Given the description of an element on the screen output the (x, y) to click on. 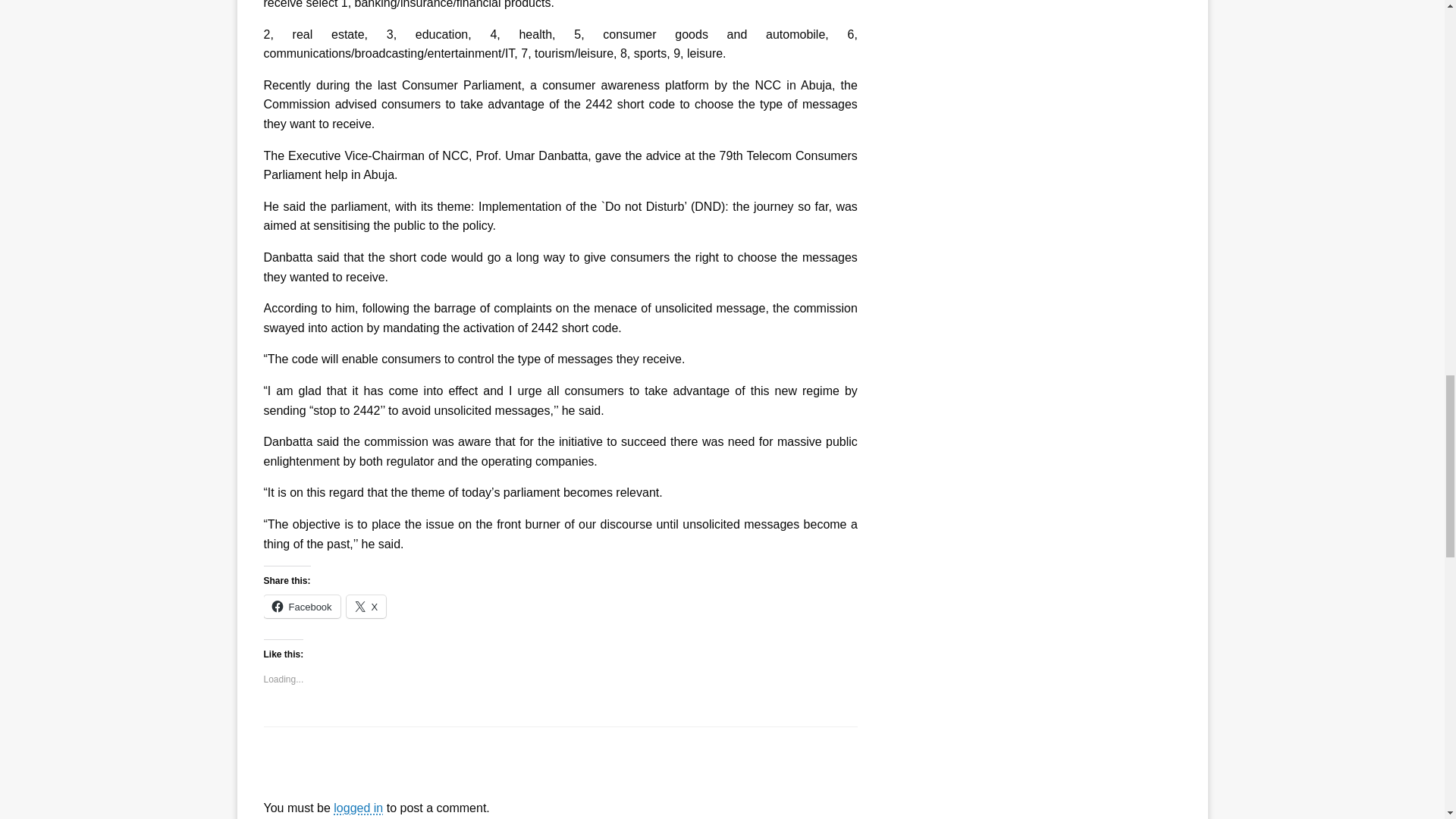
Click to share on Facebook (301, 606)
Facebook (301, 606)
X (366, 606)
Click to share on X (366, 606)
logged in (357, 807)
